Given the description of an element on the screen output the (x, y) to click on. 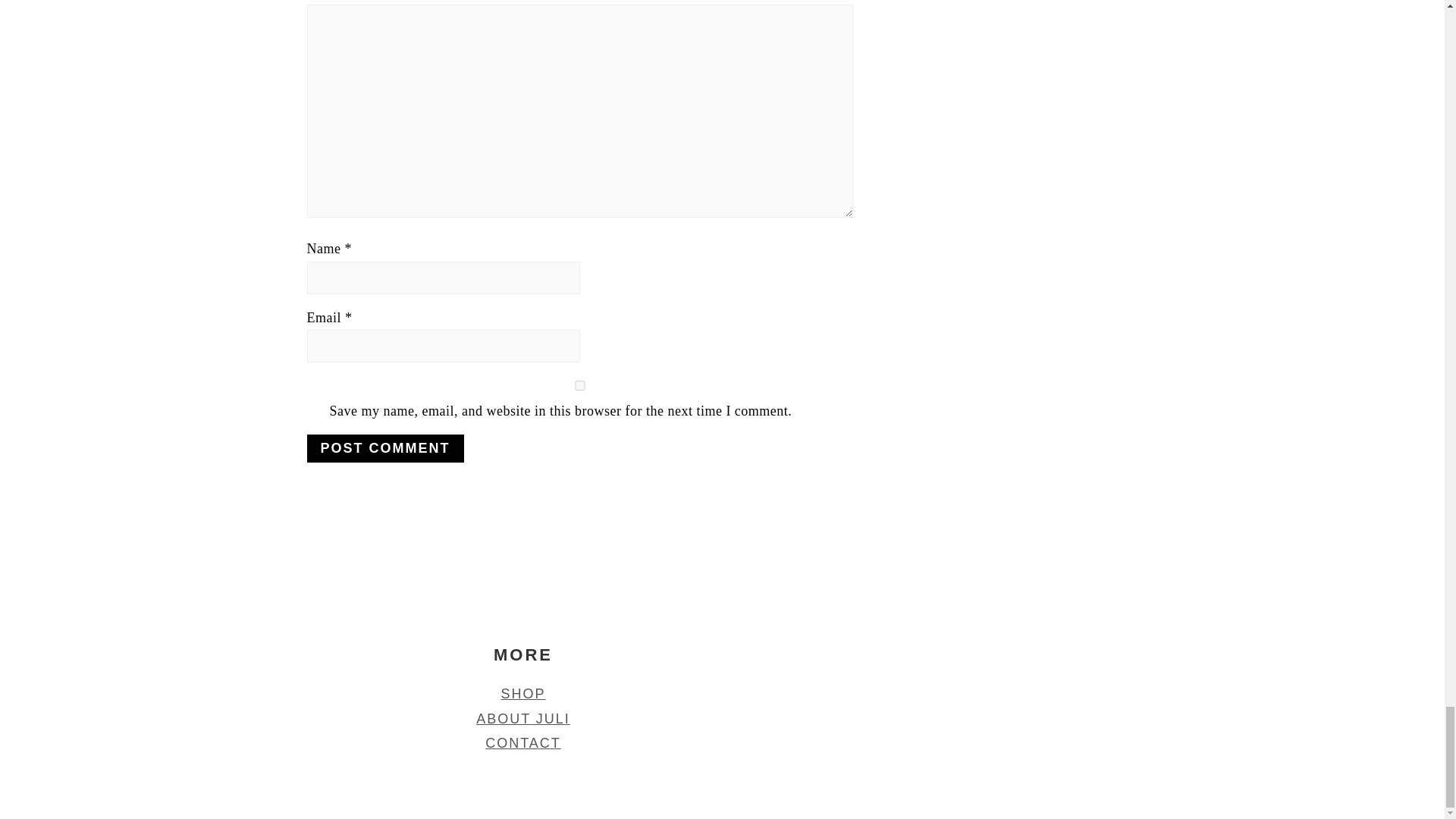
yes (578, 385)
Post Comment (384, 448)
